Given the description of an element on the screen output the (x, y) to click on. 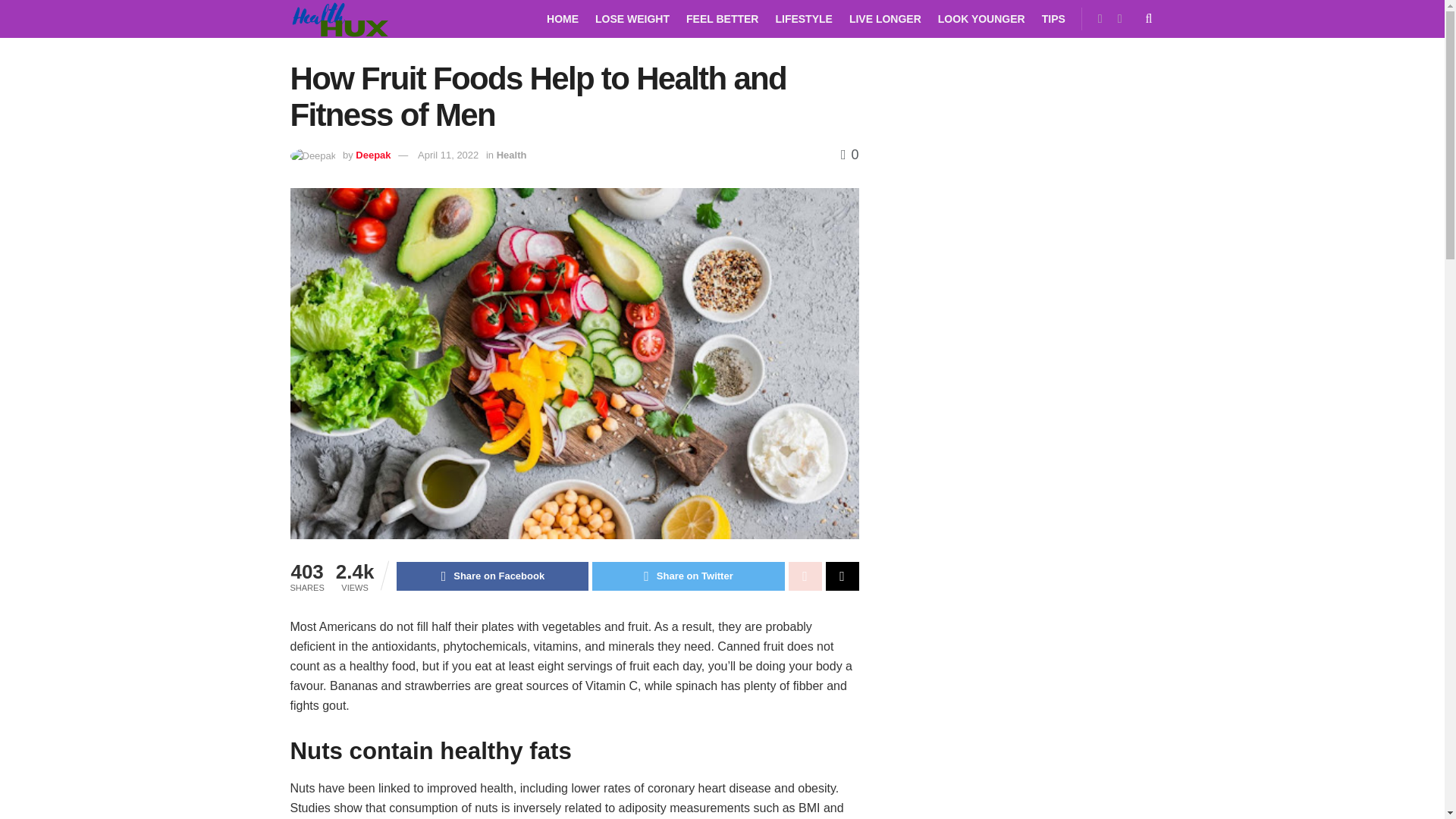
April 11, 2022 (448, 154)
Health (511, 154)
Share on Facebook (492, 575)
LOOK YOUNGER (981, 18)
LIVE LONGER (884, 18)
0 (850, 154)
LOSE WEIGHT (632, 18)
Deepak (372, 154)
LIFESTYLE (802, 18)
FEEL BETTER (721, 18)
